Given the description of an element on the screen output the (x, y) to click on. 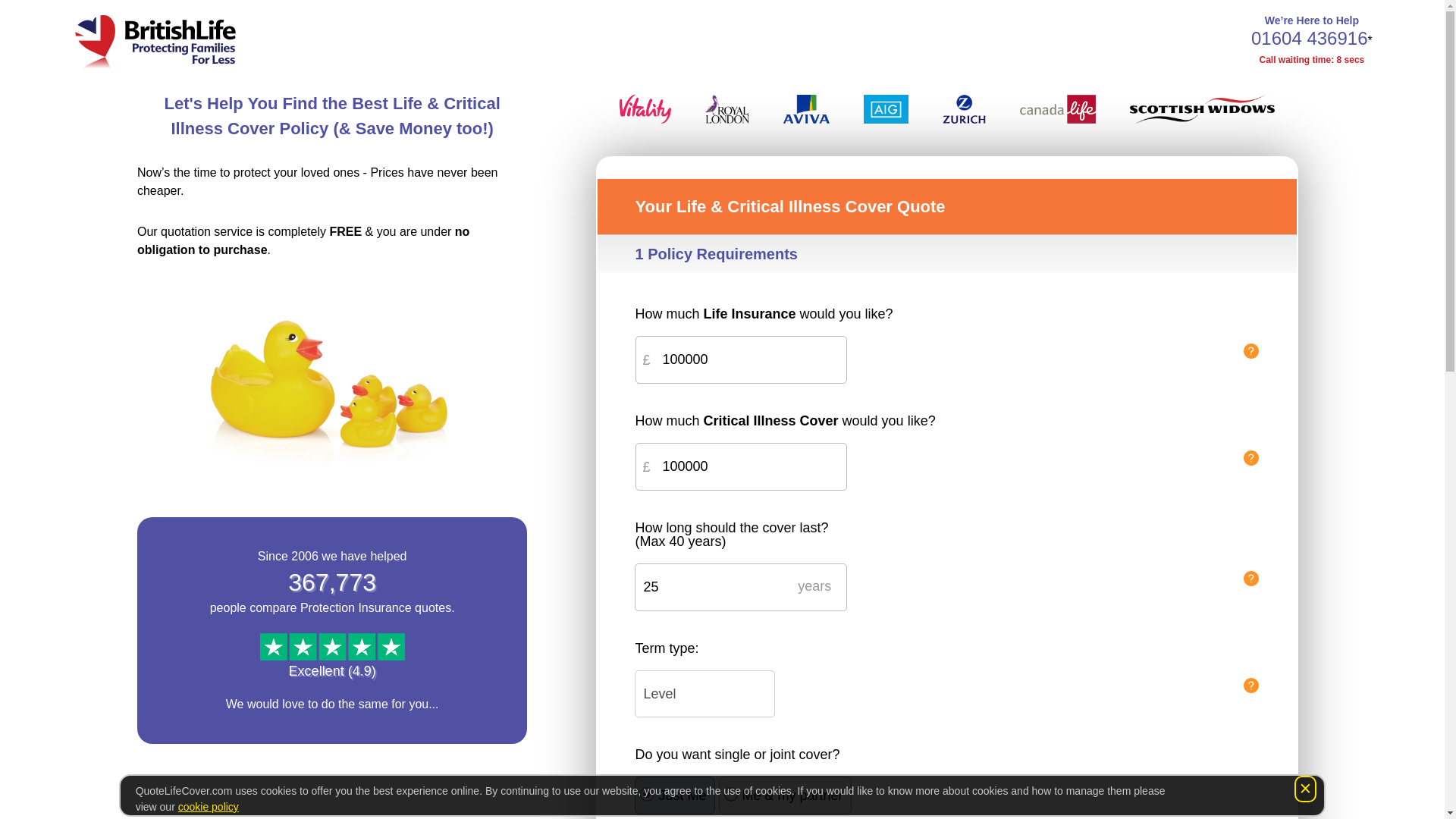
100000 (740, 466)
Trustpilot score for the service you'll receive (332, 646)
Life Cover Insurance and Critical Illness Cover (154, 35)
25 (740, 586)
cookie policy (207, 806)
01604 436916 (1309, 37)
100000 (740, 359)
